Given the description of an element on the screen output the (x, y) to click on. 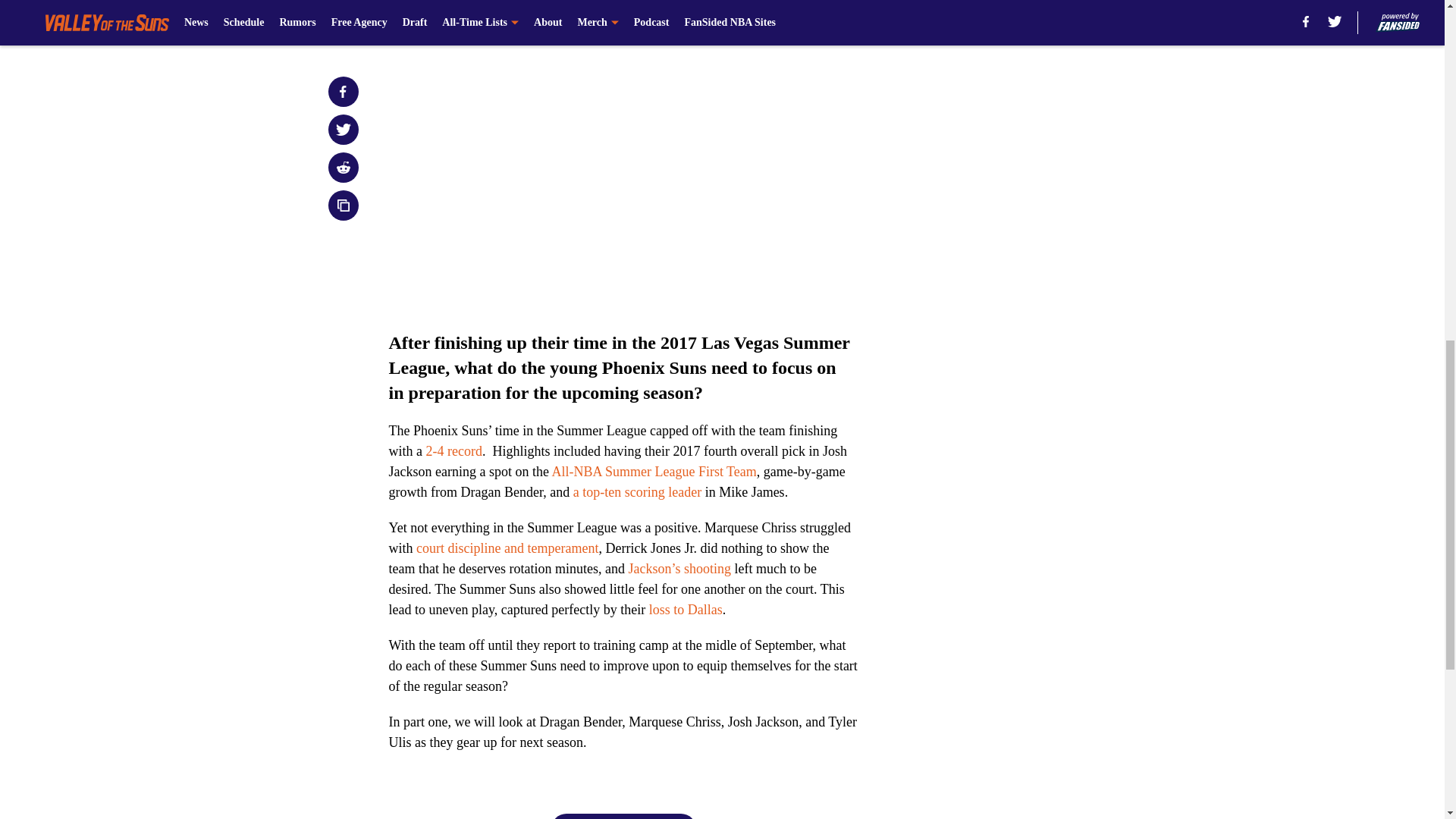
a top-ten scoring leader (637, 491)
Prev (433, 20)
Next (813, 20)
All-NBA Summer League First Team (653, 471)
2-4 record (453, 450)
court discipline and temperament (507, 548)
Next (622, 816)
loss to Dallas (685, 609)
